Given the description of an element on the screen output the (x, y) to click on. 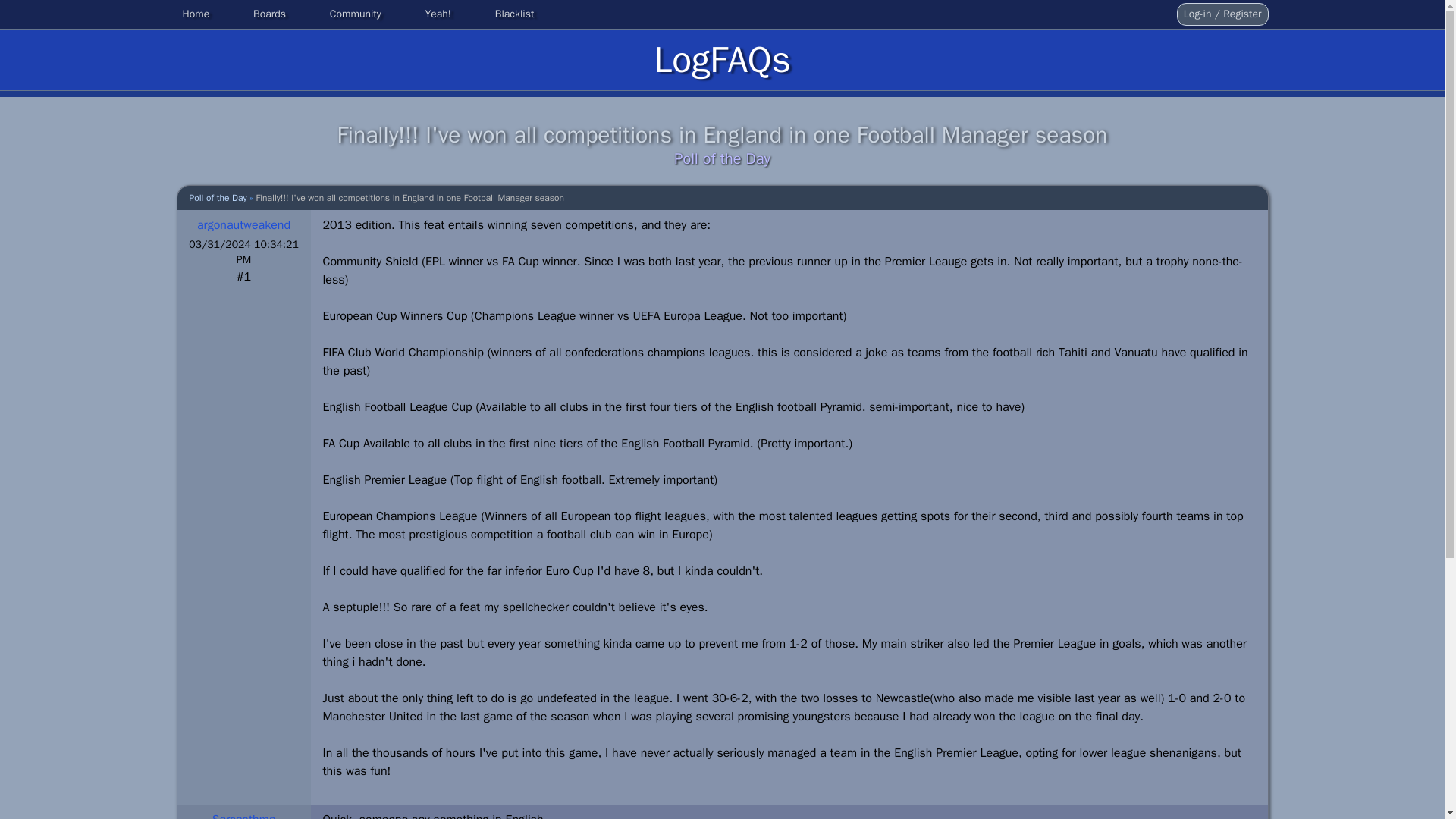
Home (195, 13)
Boards (269, 13)
Yeah! (438, 13)
Sarcasthma (244, 815)
Community (355, 13)
LogFAQs (721, 59)
argonautweakend (242, 224)
Poll of the Day (218, 197)
Blacklist (514, 13)
